Given the description of an element on the screen output the (x, y) to click on. 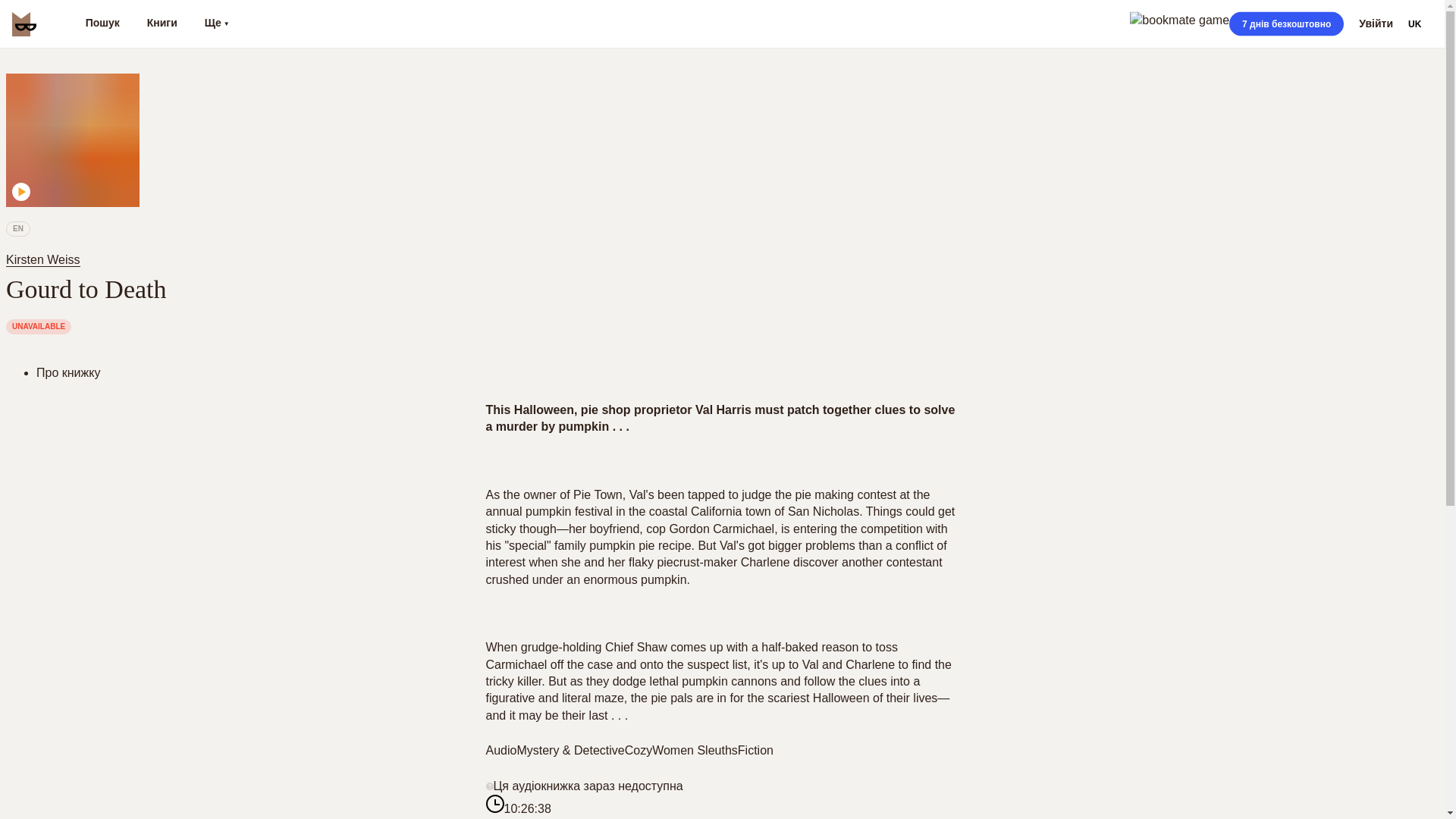
Fiction (755, 749)
Cozy (638, 749)
Women Sleuths (695, 749)
Kirsten Weiss (42, 259)
Kirsten Weiss (45, 259)
Audio (500, 749)
